Given the description of an element on the screen output the (x, y) to click on. 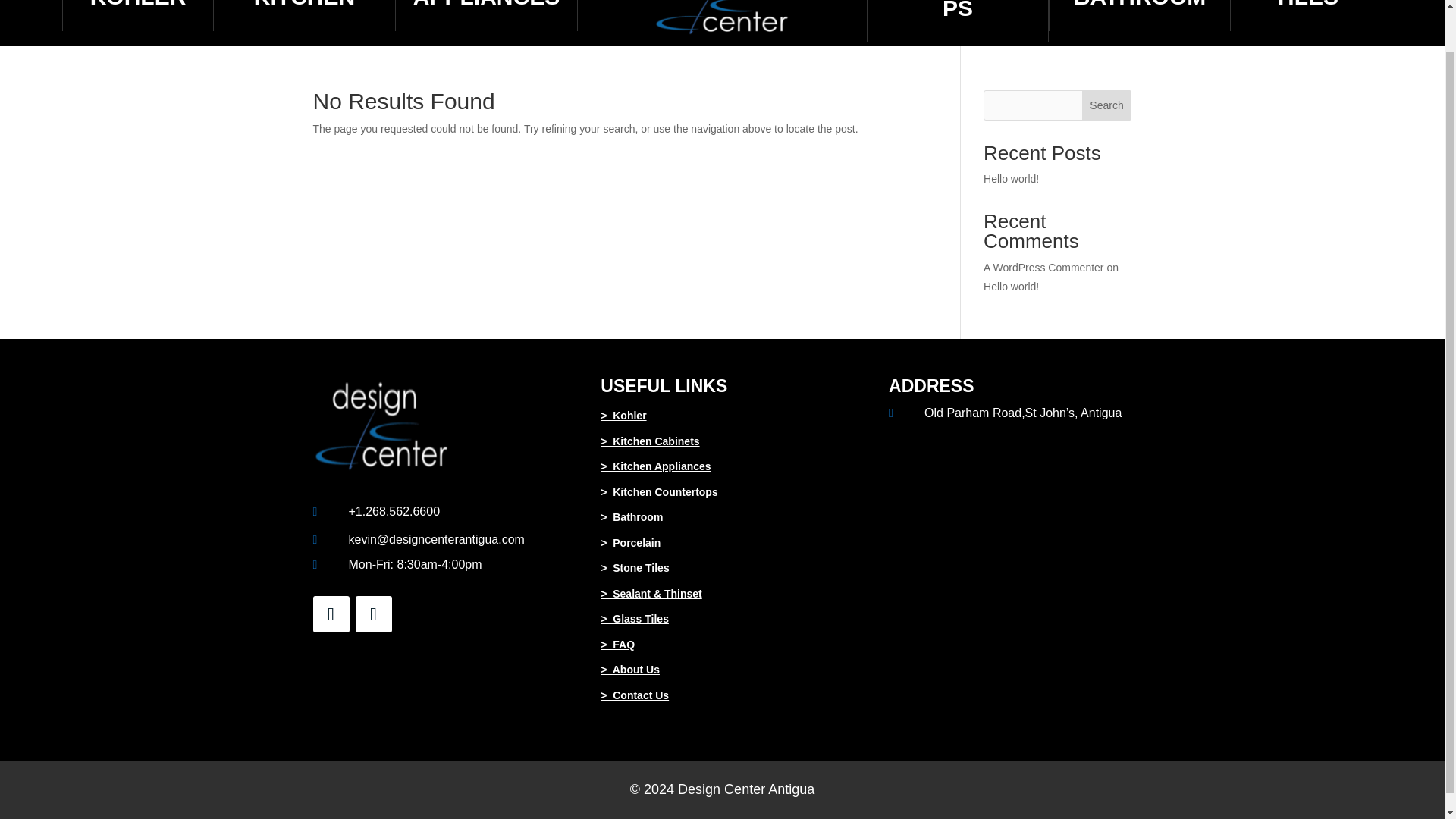
Search (1106, 105)
designcenterlogowhite-e1708631870975 (381, 426)
Follow on Instagram (373, 614)
TILES (1306, 4)
designcenterlogowhite-e1708631870975 (722, 19)
KITCHEN (304, 4)
A WordPress Commenter (1043, 267)
BATHROOM (1139, 4)
KOHLER (138, 4)
Hello world! (1011, 286)
Hello world! (1011, 178)
Follow on Facebook (331, 614)
APPLIANCES (486, 4)
COUNTERTOPS (957, 10)
